Given the description of an element on the screen output the (x, y) to click on. 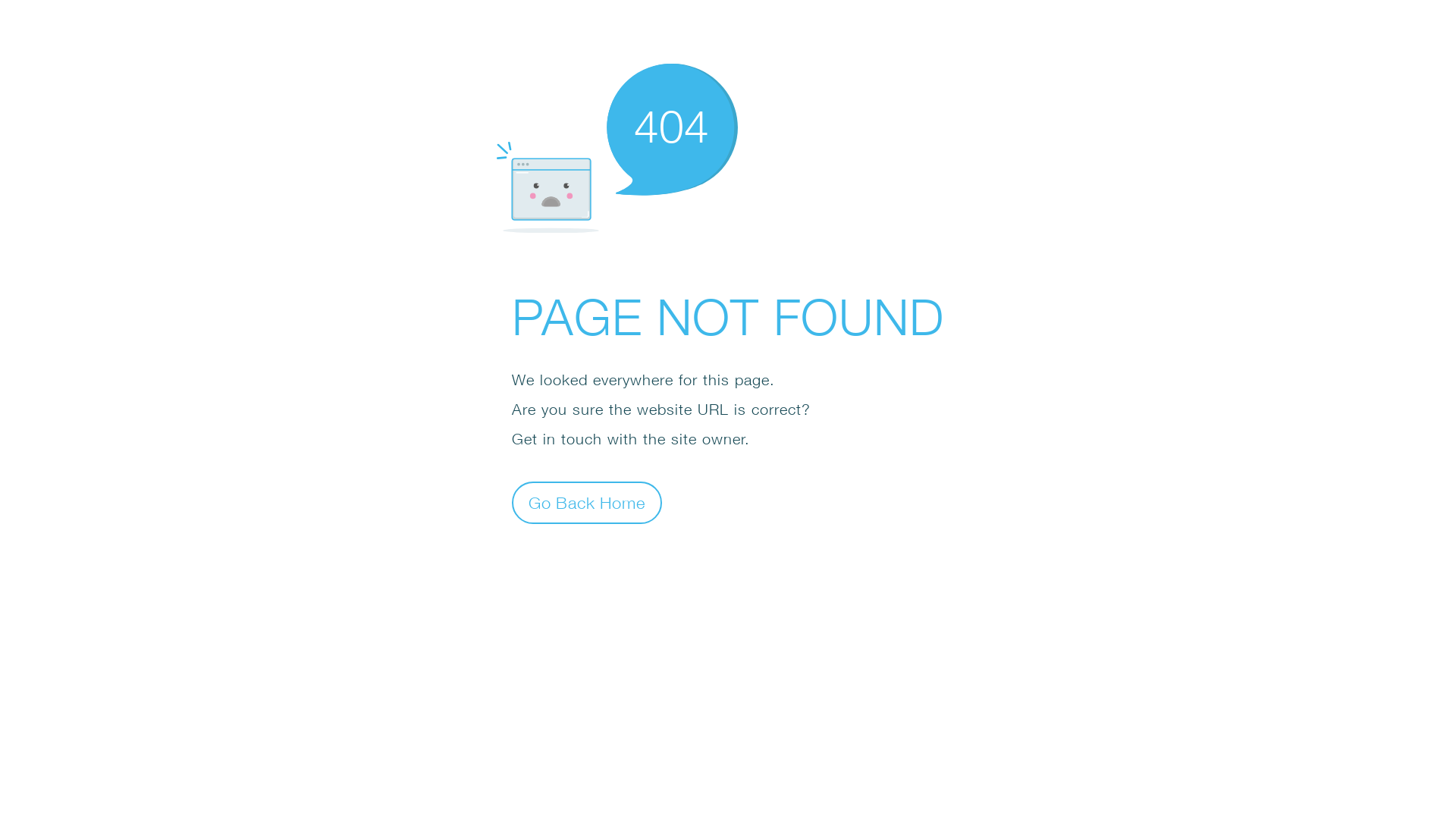
Go Back Home Element type: text (586, 502)
